Given the description of an element on the screen output the (x, y) to click on. 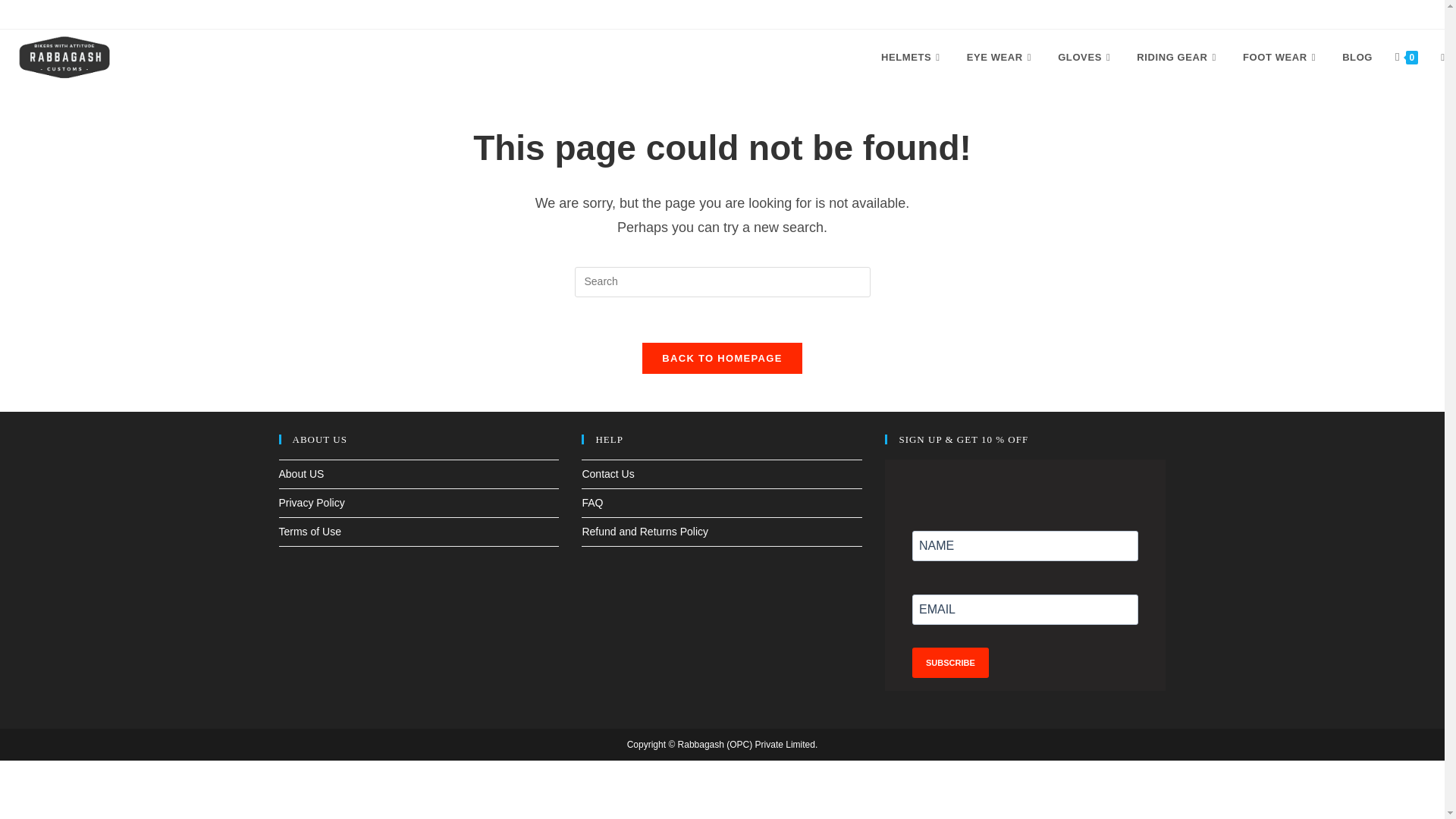
HELMETS (912, 57)
RIDING GEAR (1178, 57)
GLOVES (1085, 57)
EYE WEAR (1000, 57)
